Given the description of an element on the screen output the (x, y) to click on. 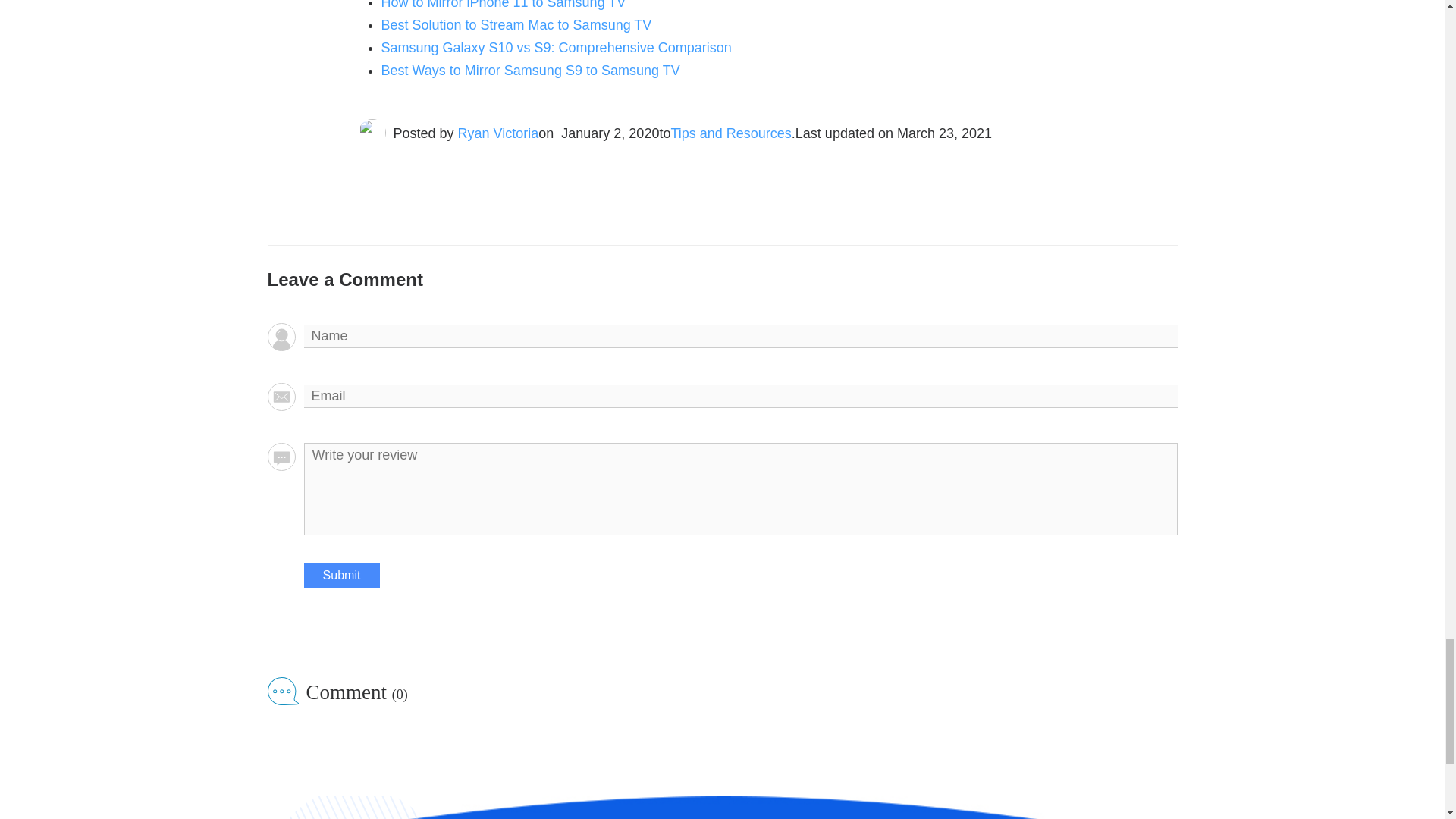
How to Mirror iPhone 11 to Samsung TV (503, 4)
Best Ways to Mirror Samsung S9 to Samsung TV (529, 70)
Best Solution to Stream Mac to Samsung TV (515, 24)
Ryan Victoria (498, 133)
Samsung Galaxy S10 vs S9: Comprehensive Comparison (555, 47)
How to Mirror iPhone 11 to Samsung TV (503, 4)
Best Ways to Mirror Samsung S9 to Samsung TV (529, 70)
Best Solution to Stream Mac to Samsung TV (515, 24)
Samsung Galaxy S10 vs S9: Comprehensive Comparison (555, 47)
Tips and Resources (729, 133)
